Given the description of an element on the screen output the (x, y) to click on. 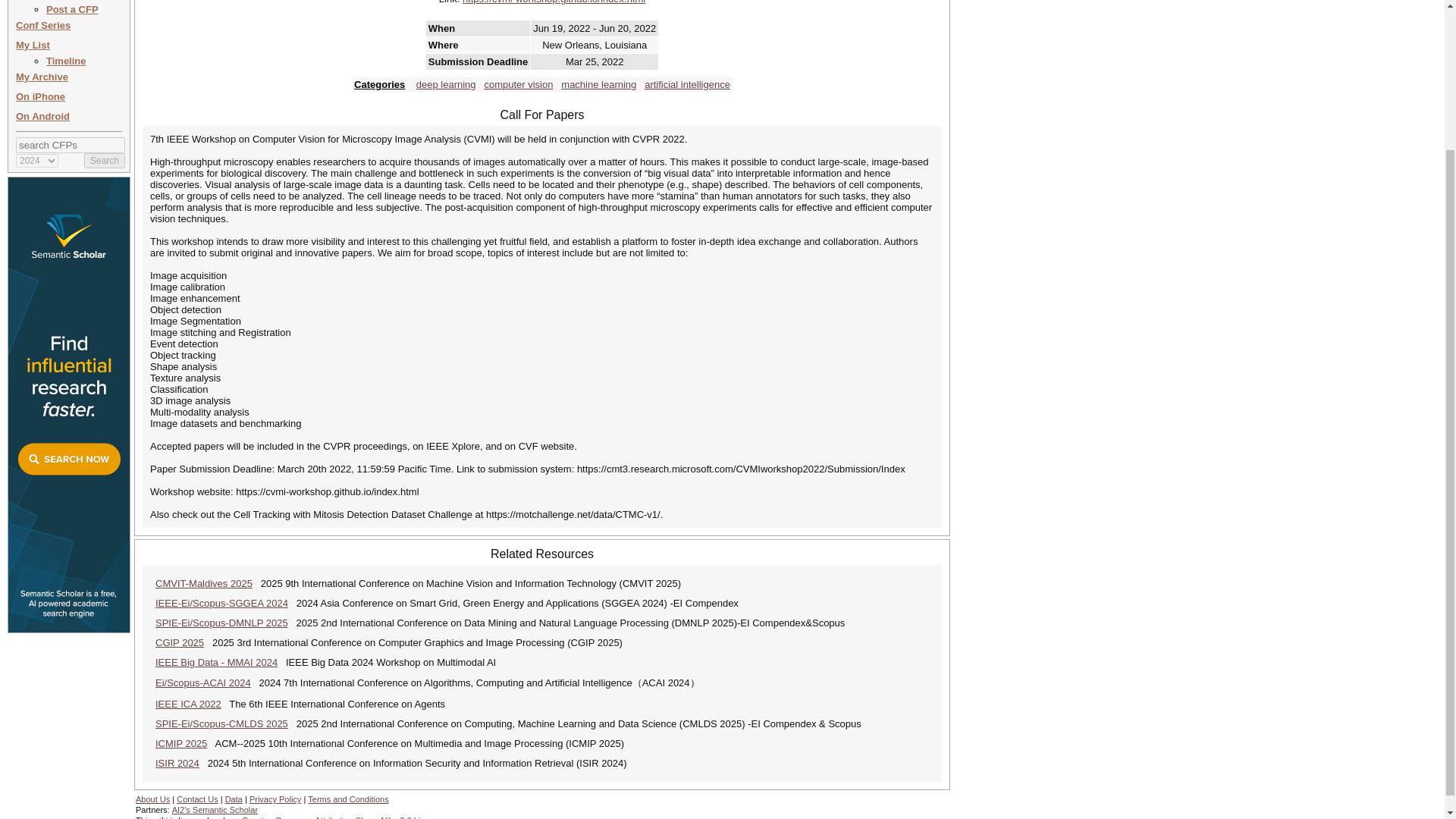
computer vision (518, 84)
Timeline (65, 60)
Conf Series (42, 25)
My Archive (42, 76)
On Android (42, 116)
On iPhone (40, 96)
CMVIT-Maldives 2025 (203, 583)
Search (104, 160)
machine learning (598, 84)
CGIP 2025 (179, 642)
